Given the description of an element on the screen output the (x, y) to click on. 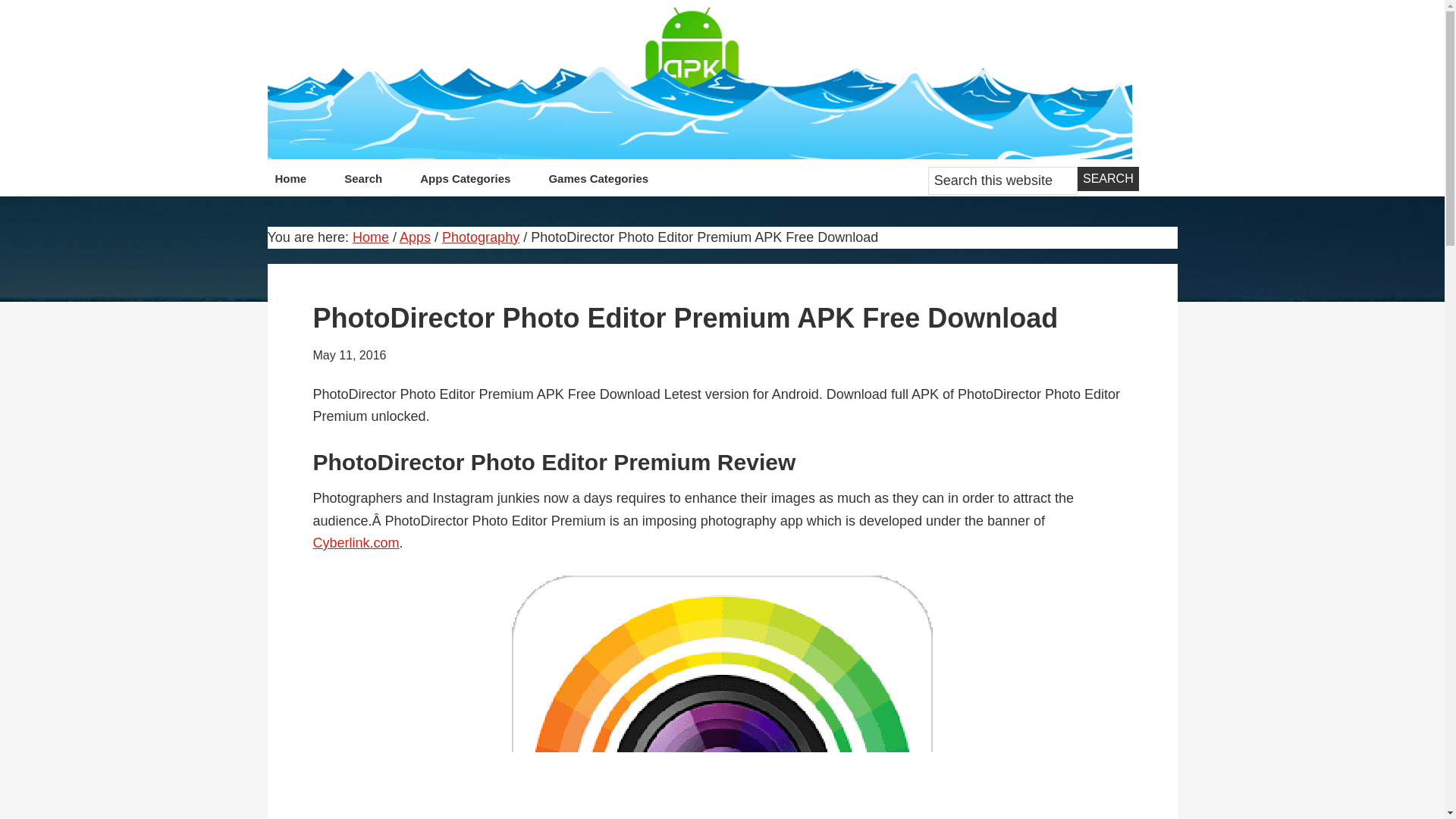
Cyberlink.com (355, 542)
Photography (480, 236)
PhotoDirector Photo Editor Premium APK Free Download (722, 697)
Search (1107, 178)
Games Categories (598, 181)
OceanofAPK (698, 82)
Apps (414, 236)
Home (370, 236)
Apps Categories (465, 181)
Search (1107, 178)
Search (1107, 178)
Home (290, 181)
Search (363, 181)
